Given the description of an element on the screen output the (x, y) to click on. 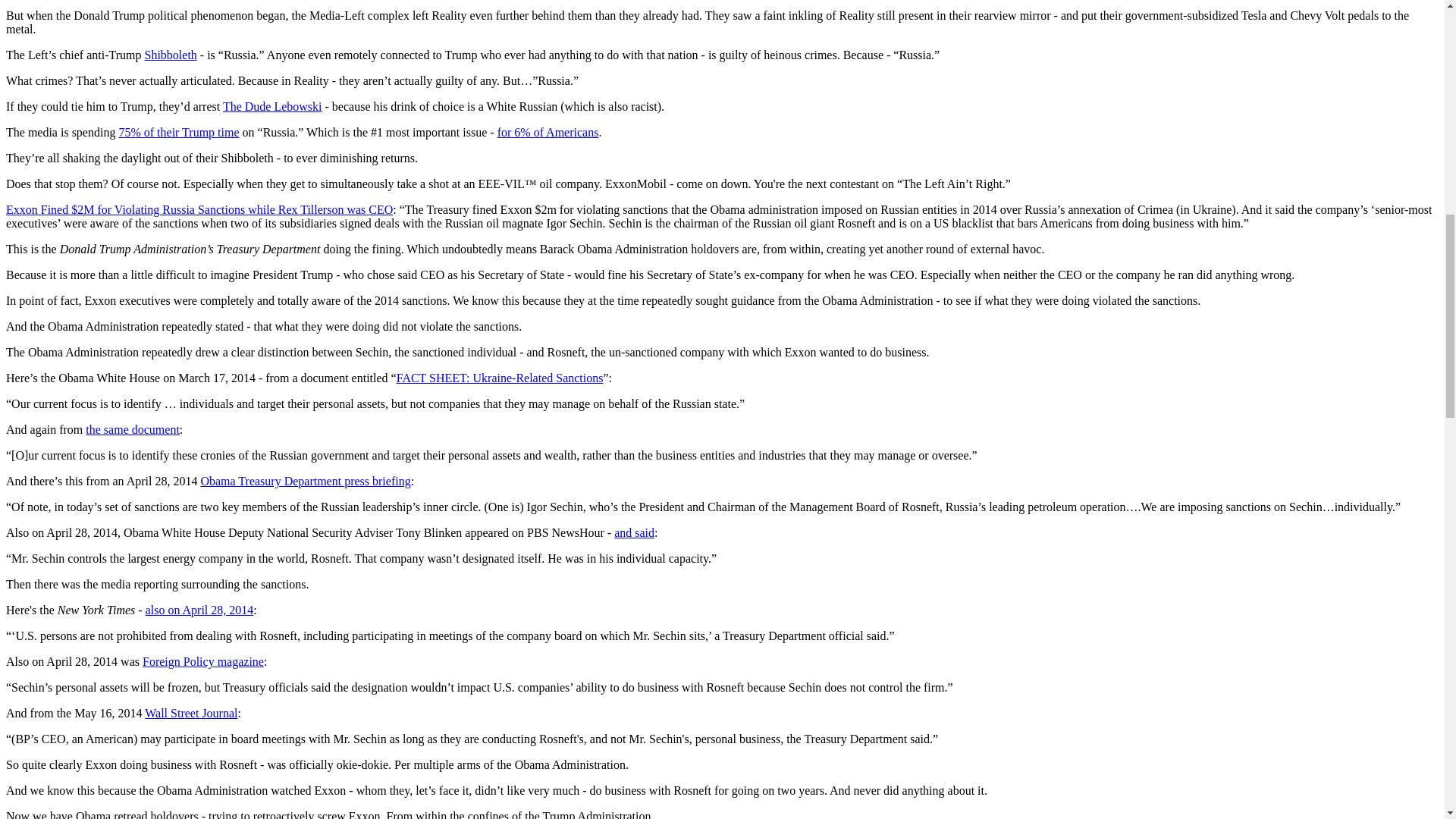
Wall Street Journal (190, 712)
and said (633, 532)
Obama Treasury Department press briefing (305, 481)
FACT SHEET: Ukraine-Related Sanctions (500, 377)
Foreign Policy magazine (202, 661)
The Dude Lebowski (271, 106)
also on April 28, 2014 (199, 609)
the same document (132, 429)
Shibboleth (170, 54)
